Given the description of an element on the screen output the (x, y) to click on. 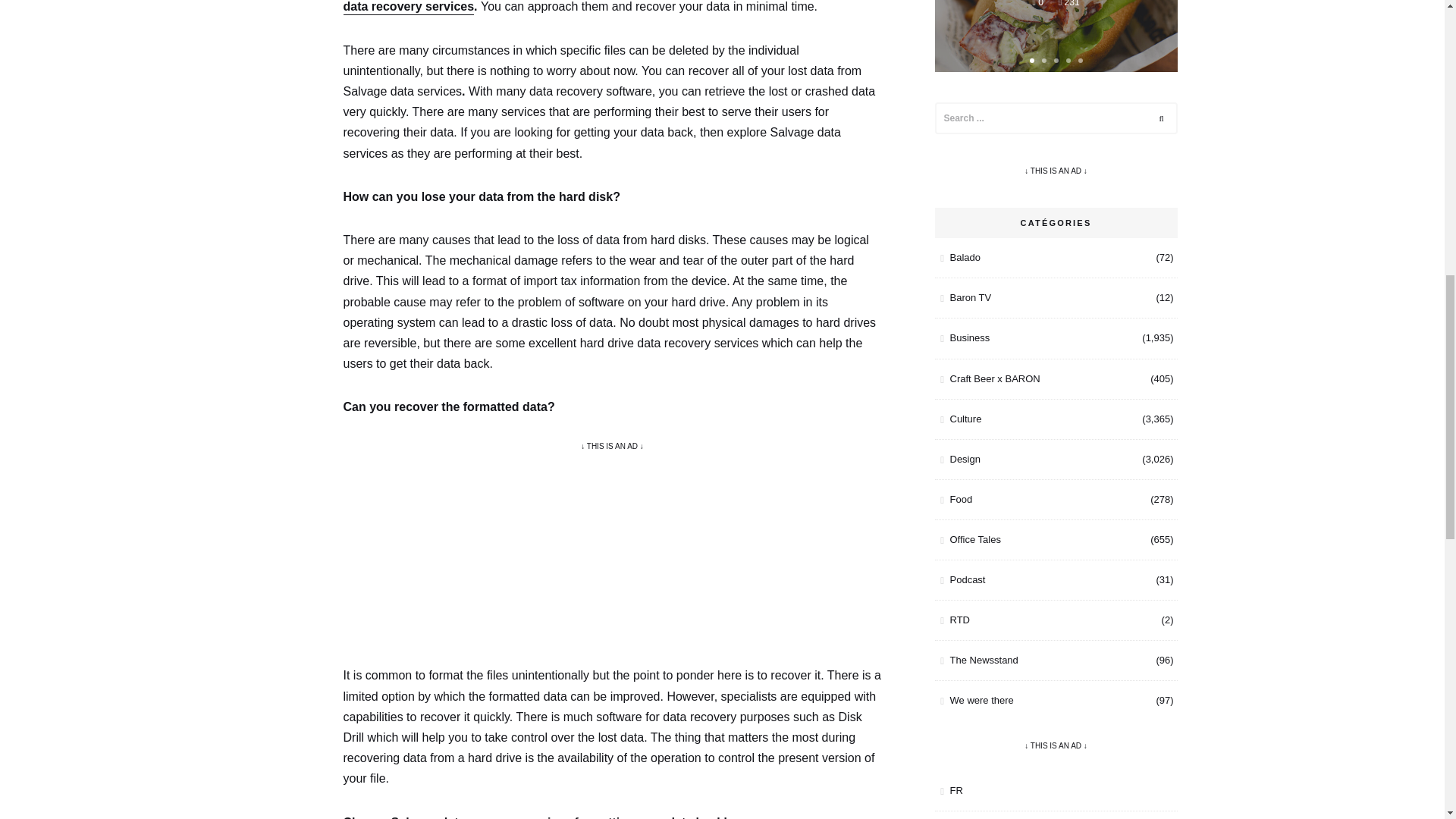
3rd party ad content (612, 547)
